Given the description of an element on the screen output the (x, y) to click on. 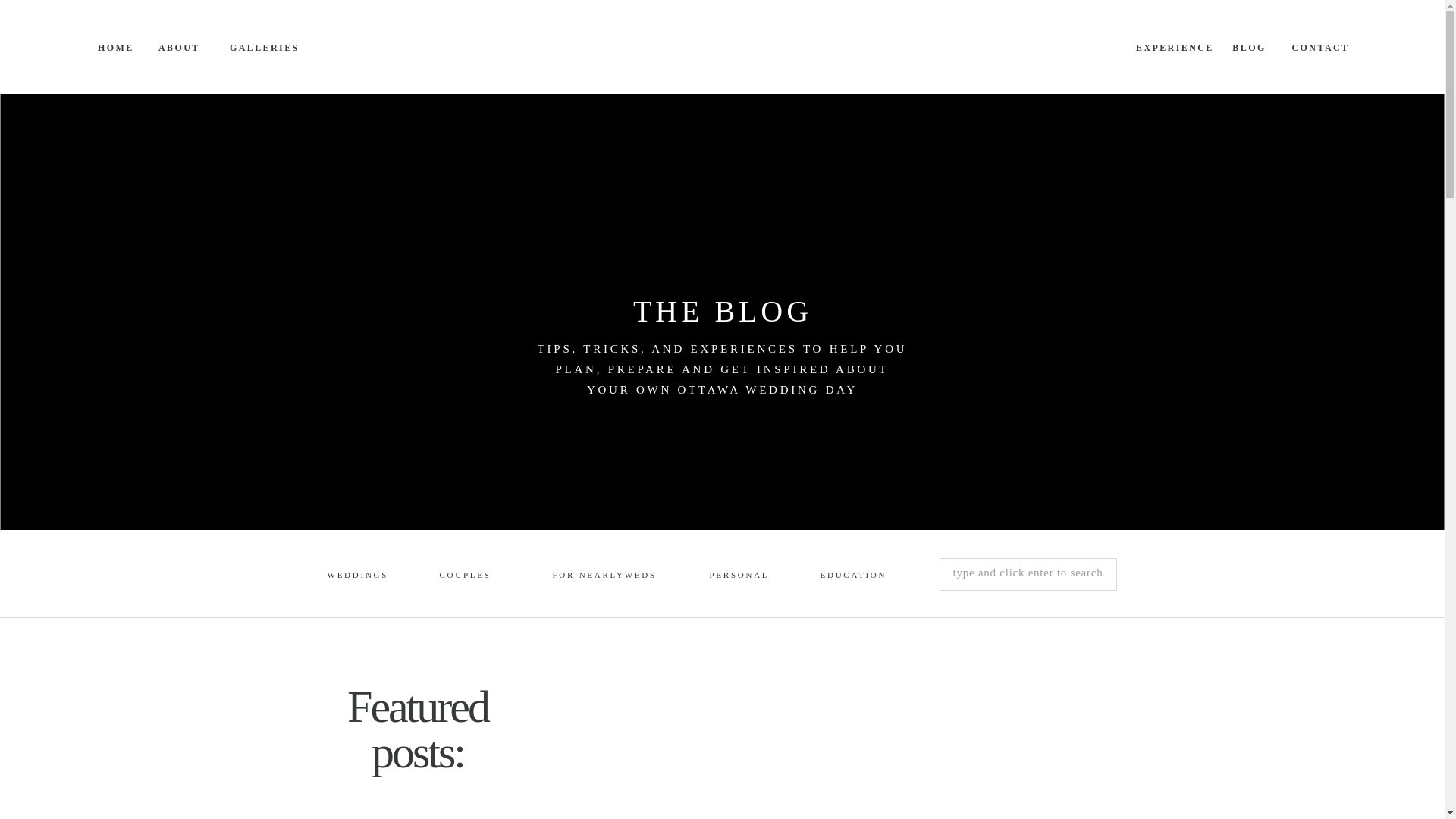
BLOG (1248, 47)
WEDDINGS (357, 576)
FOR NEARLYWEDS (604, 576)
ABOUT (177, 47)
GALLERIES (263, 47)
EXPERIENCE (1173, 47)
PERSONAL (739, 576)
HOME (114, 47)
EDUCATION (853, 576)
COUPLES (469, 576)
CONTACT (1320, 47)
